Given the description of an element on the screen output the (x, y) to click on. 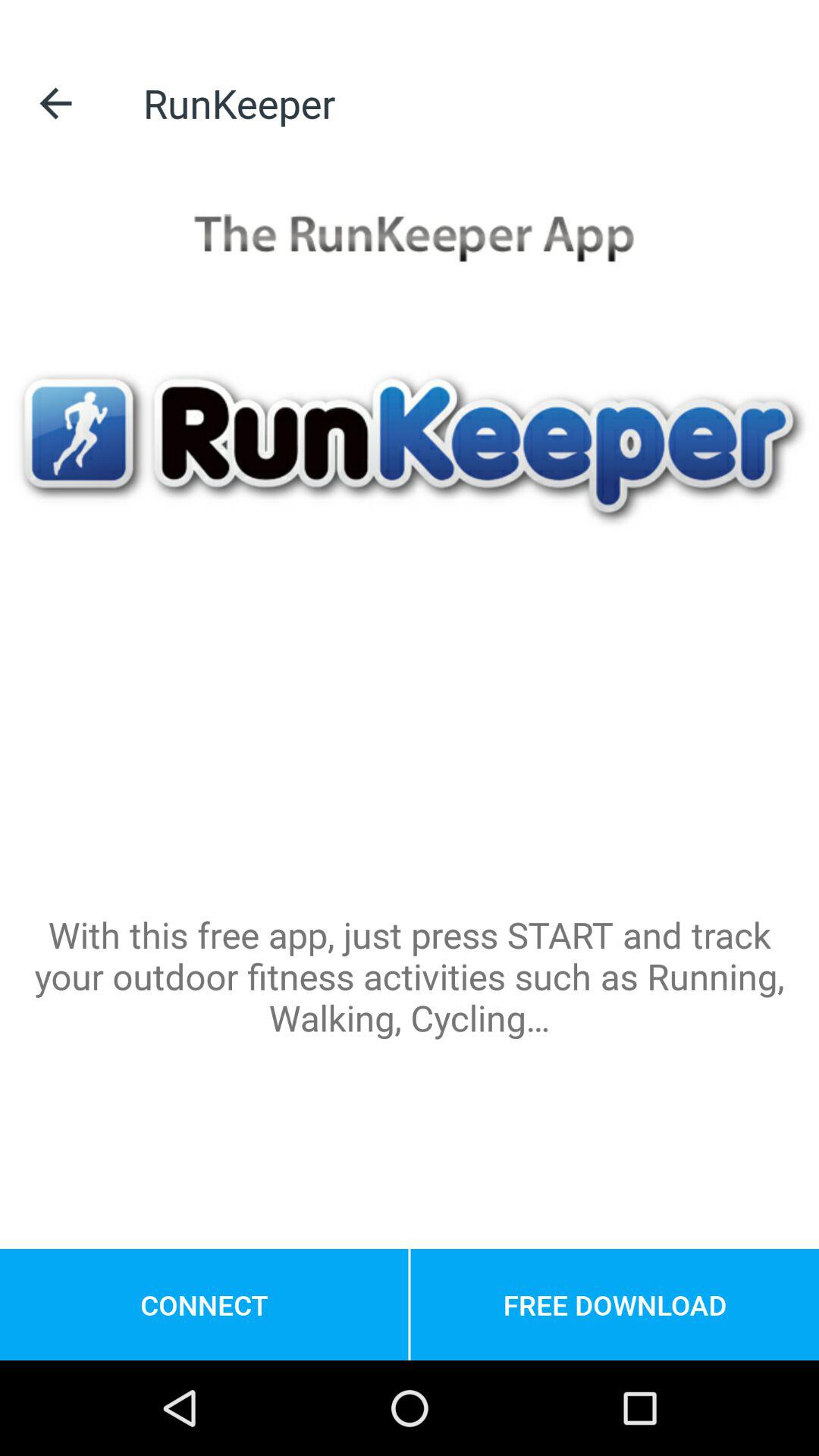
press the icon below the with this free (614, 1304)
